Given the description of an element on the screen output the (x, y) to click on. 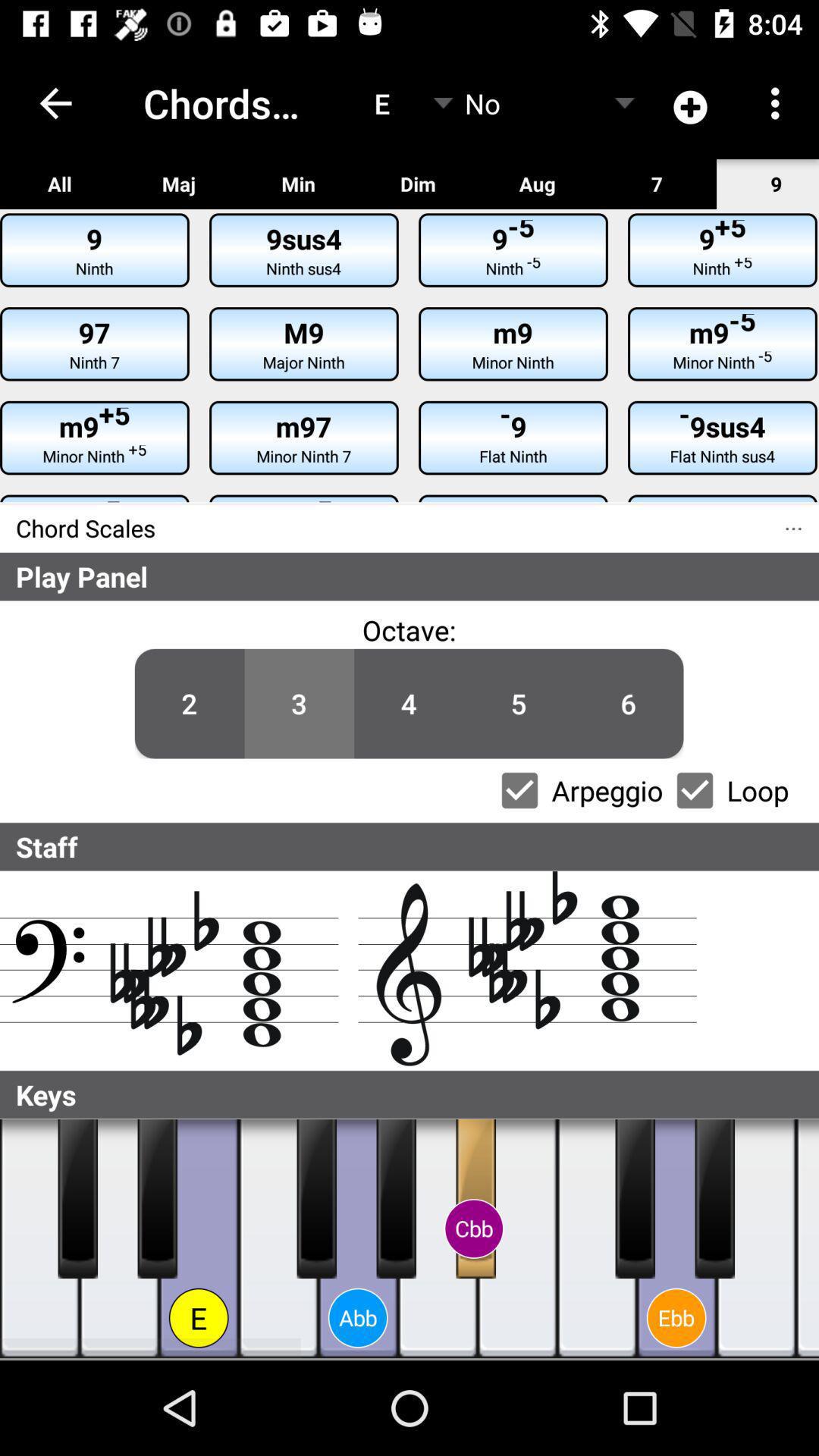
open icon below the play panel (15, 711)
